Given the description of an element on the screen output the (x, y) to click on. 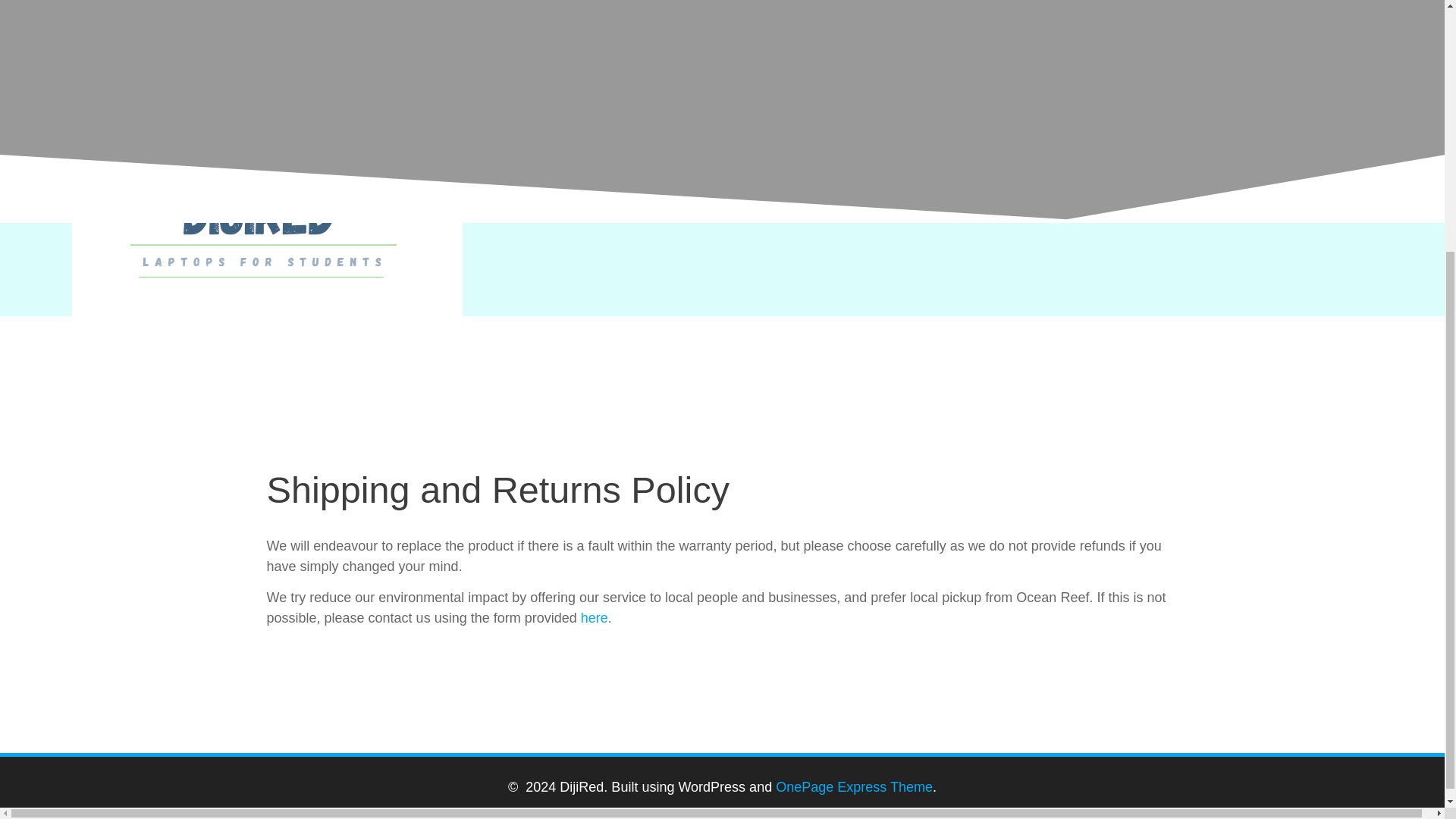
Terms (688, 417)
Privacy (757, 417)
here (594, 617)
OnePage Express Theme (854, 786)
